Given the description of an element on the screen output the (x, y) to click on. 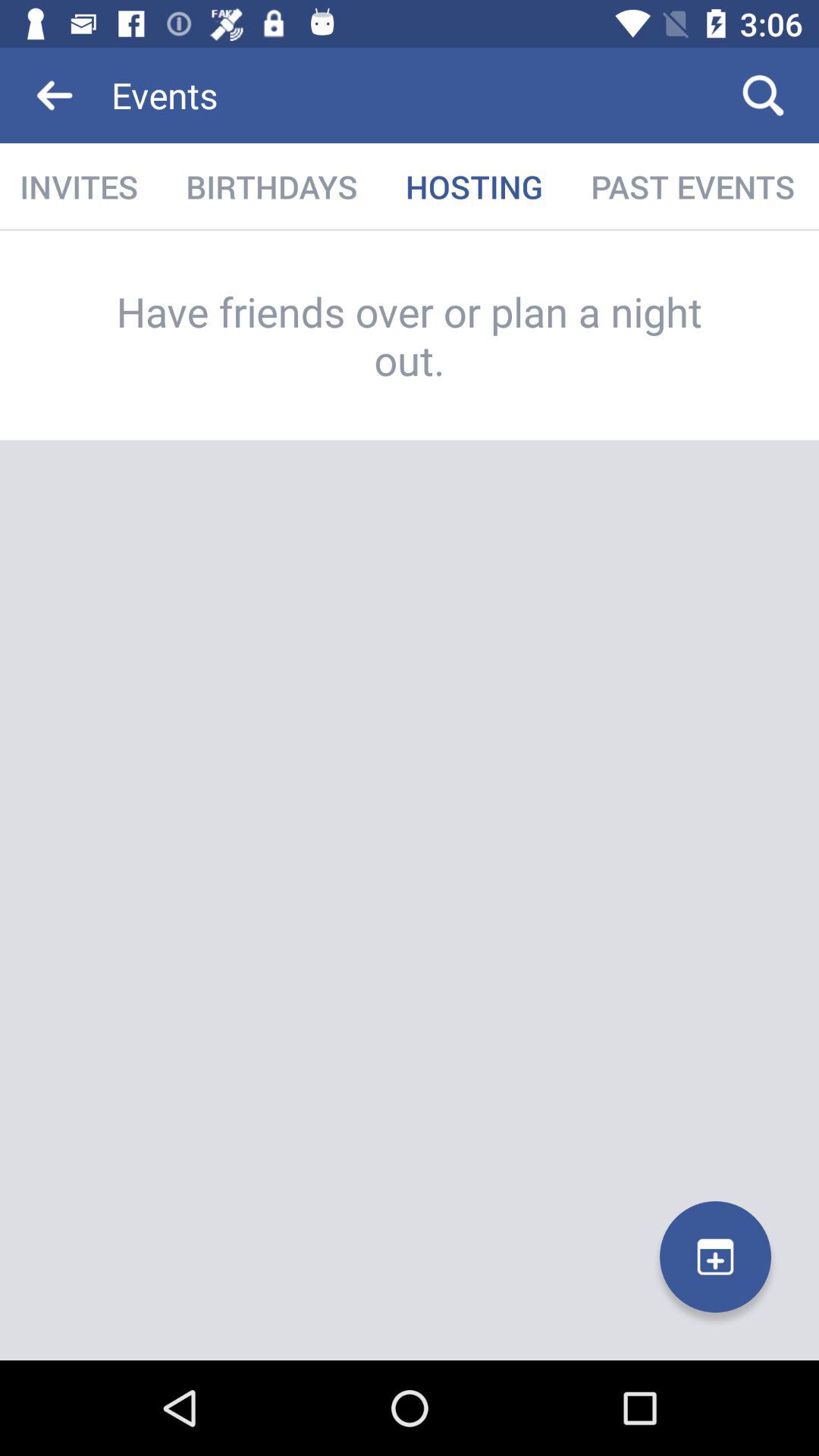
choose the item above the have friends over (81, 186)
